Given the description of an element on the screen output the (x, y) to click on. 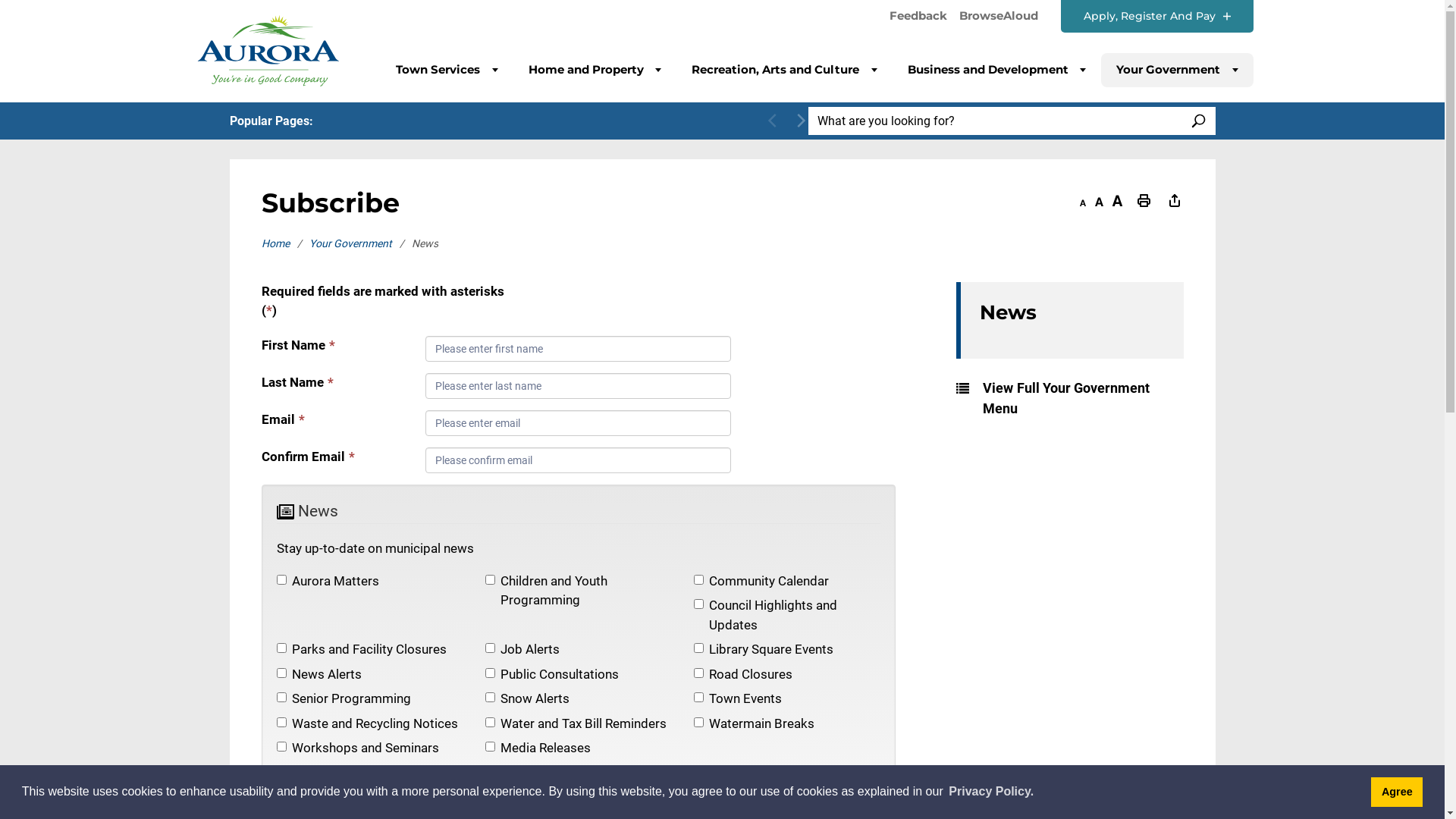
Skip to Content Element type: text (0, 0)
Agree Element type: text (1396, 791)
Your Government Element type: text (360, 243)
ViewFull Your Government Menu Element type: text (1069, 397)
Home Element type: text (284, 243)
Your Government Element type: text (1176, 70)
Feedback Element type: text (917, 16)
Recreation, Arts and Culture Element type: text (783, 70)
Apply, Register And Pay Element type: text (1156, 16)
Default text size Element type: hover (1099, 201)
SEARCH Element type: text (1198, 120)
Enter search keywords Element type: hover (994, 120)
Decrease text size Element type: hover (1082, 201)
Increase text size Element type: hover (1116, 201)
Search Element type: text (1054, 210)
Privacy Policy. Element type: text (990, 791)
Print This Page Element type: hover (1143, 201)
News Element type: text (1071, 320)
Home and Property Element type: text (594, 70)
Business and Development Element type: text (996, 70)
Town Services Element type: text (446, 70)
BrowseAloud Element type: text (997, 19)
